Given the description of an element on the screen output the (x, y) to click on. 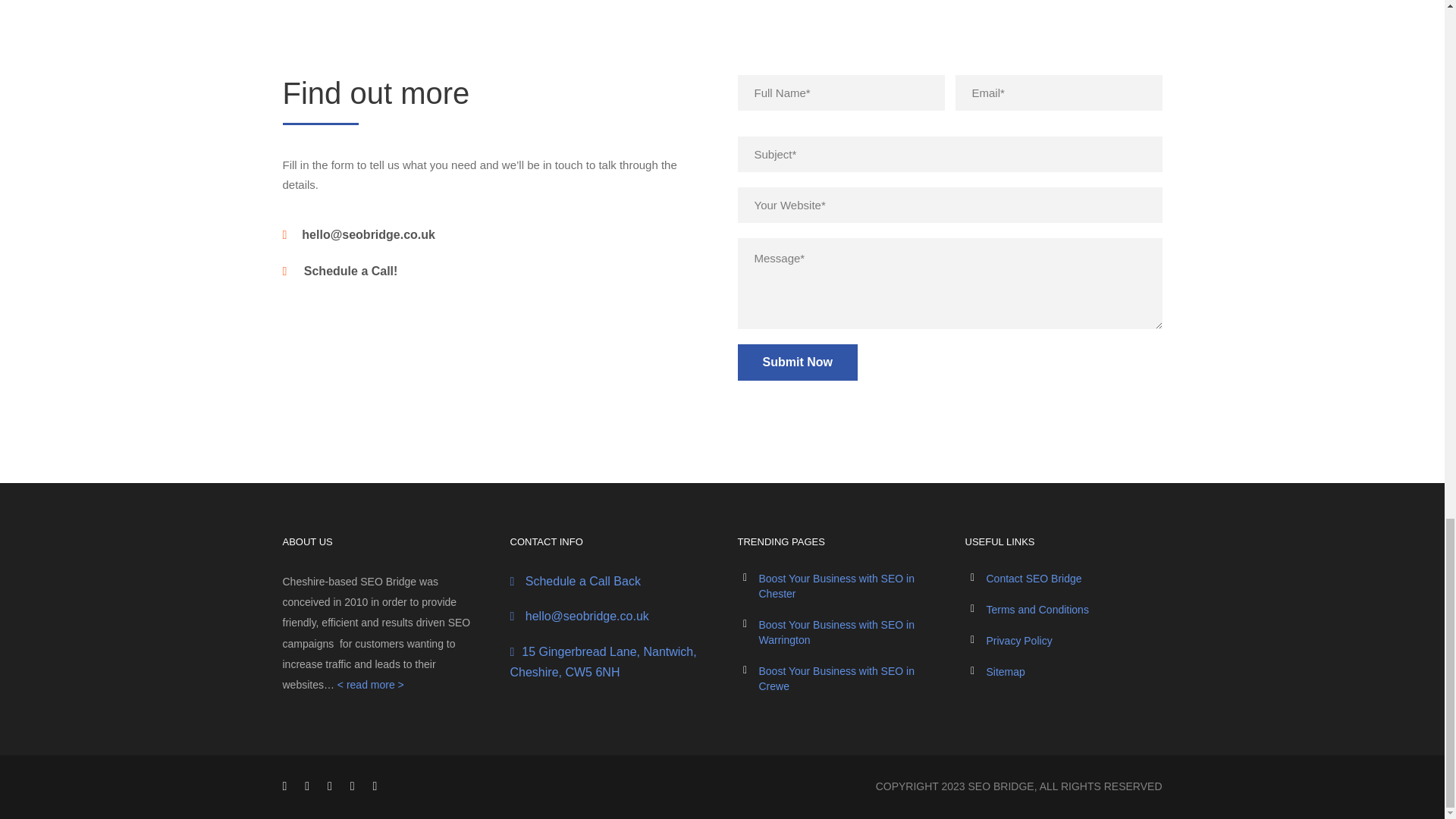
Schedule a Call! (350, 270)
Schedule a Call Back (580, 581)
Submit Now (796, 361)
Submit Now (796, 361)
